Given the description of an element on the screen output the (x, y) to click on. 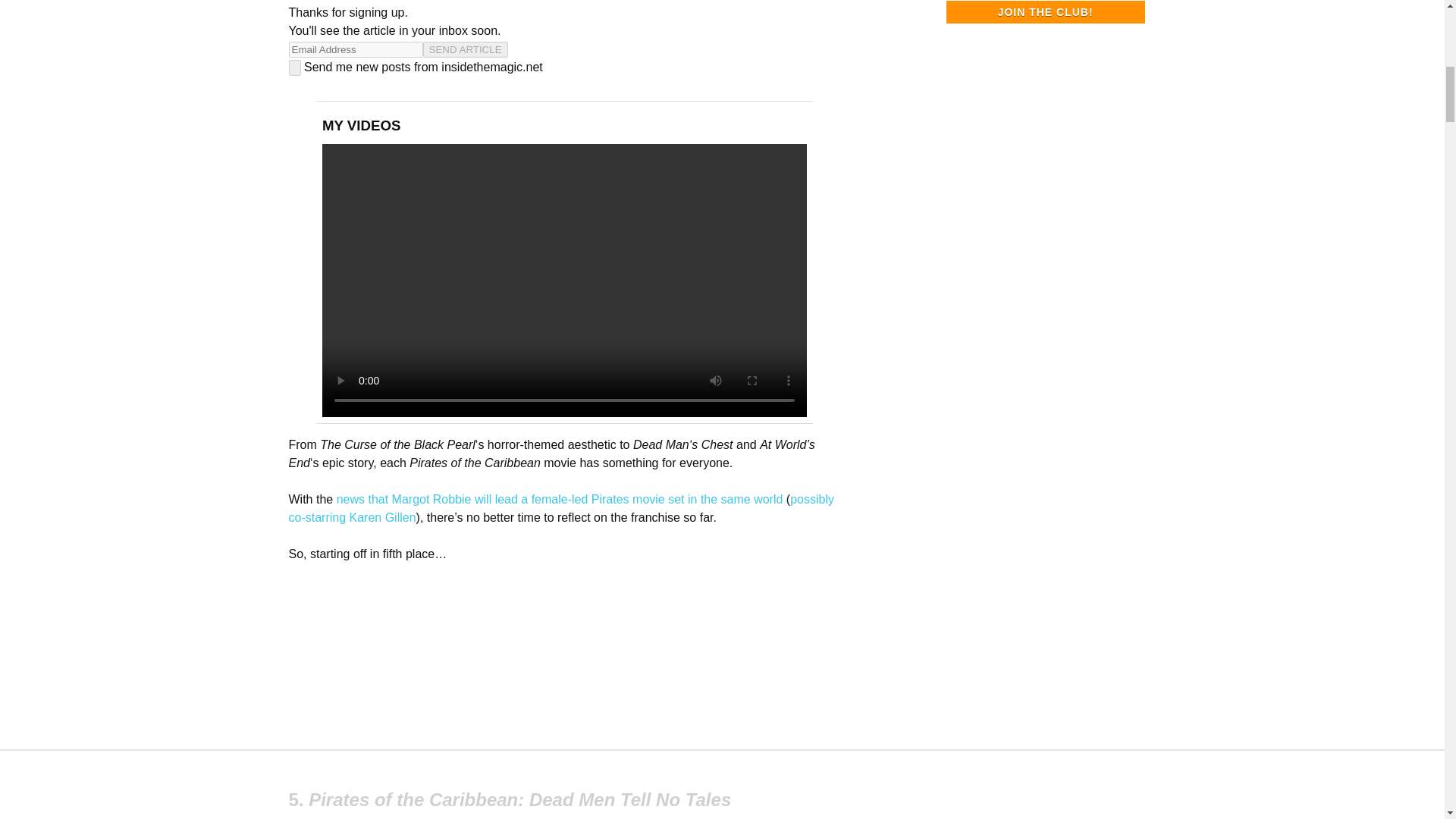
Join The Club! (1045, 11)
